Given the description of an element on the screen output the (x, y) to click on. 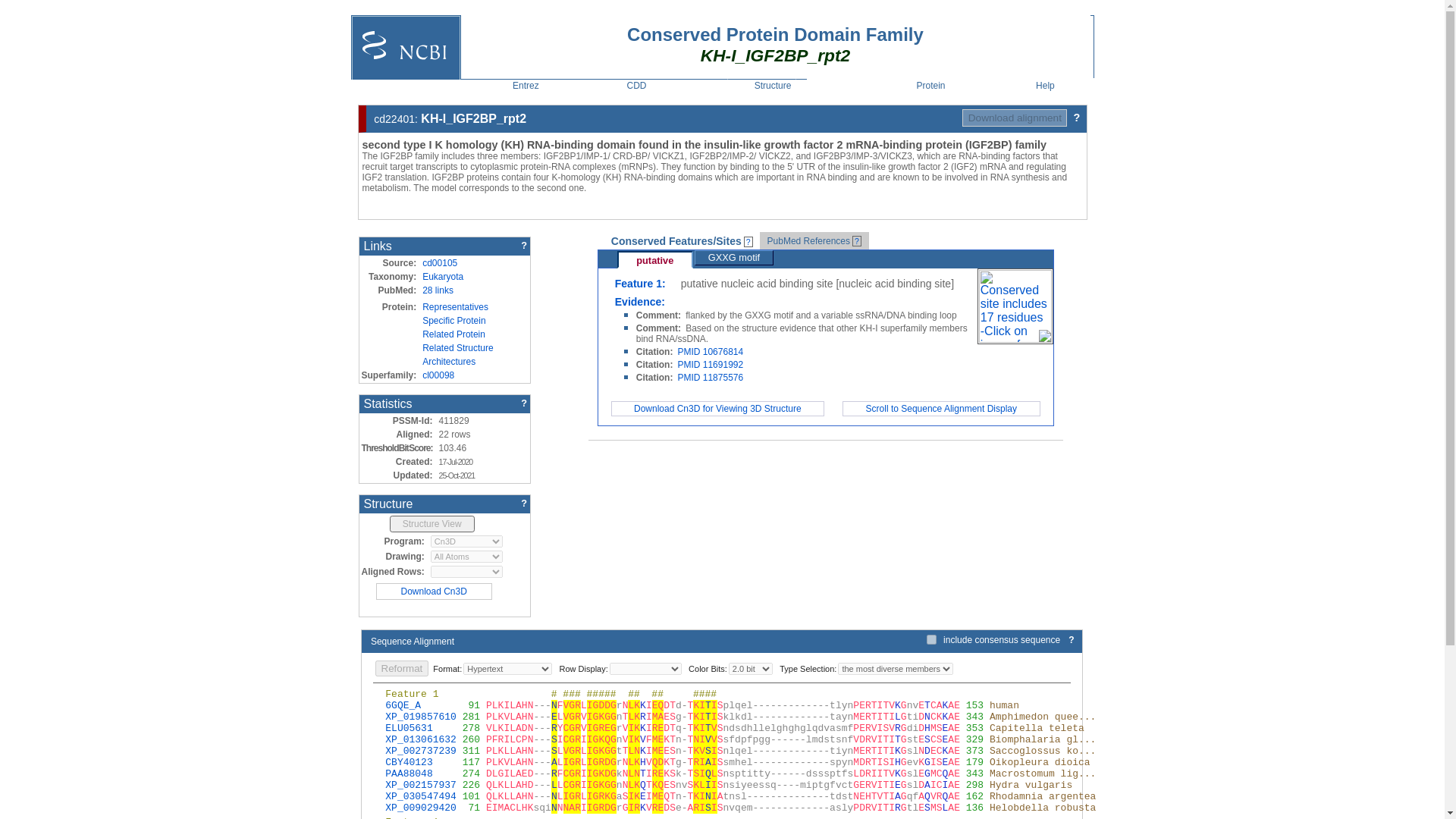
cd00105 (439, 262)
28 links (437, 290)
Reformat (401, 668)
cd22401: (395, 119)
PMID 10676814 (709, 351)
Related Structure (457, 347)
Scroll to Sequence Alignment Display (941, 408)
Architectures (449, 361)
Protein (929, 85)
PubMed References (808, 240)
